Given the description of an element on the screen output the (x, y) to click on. 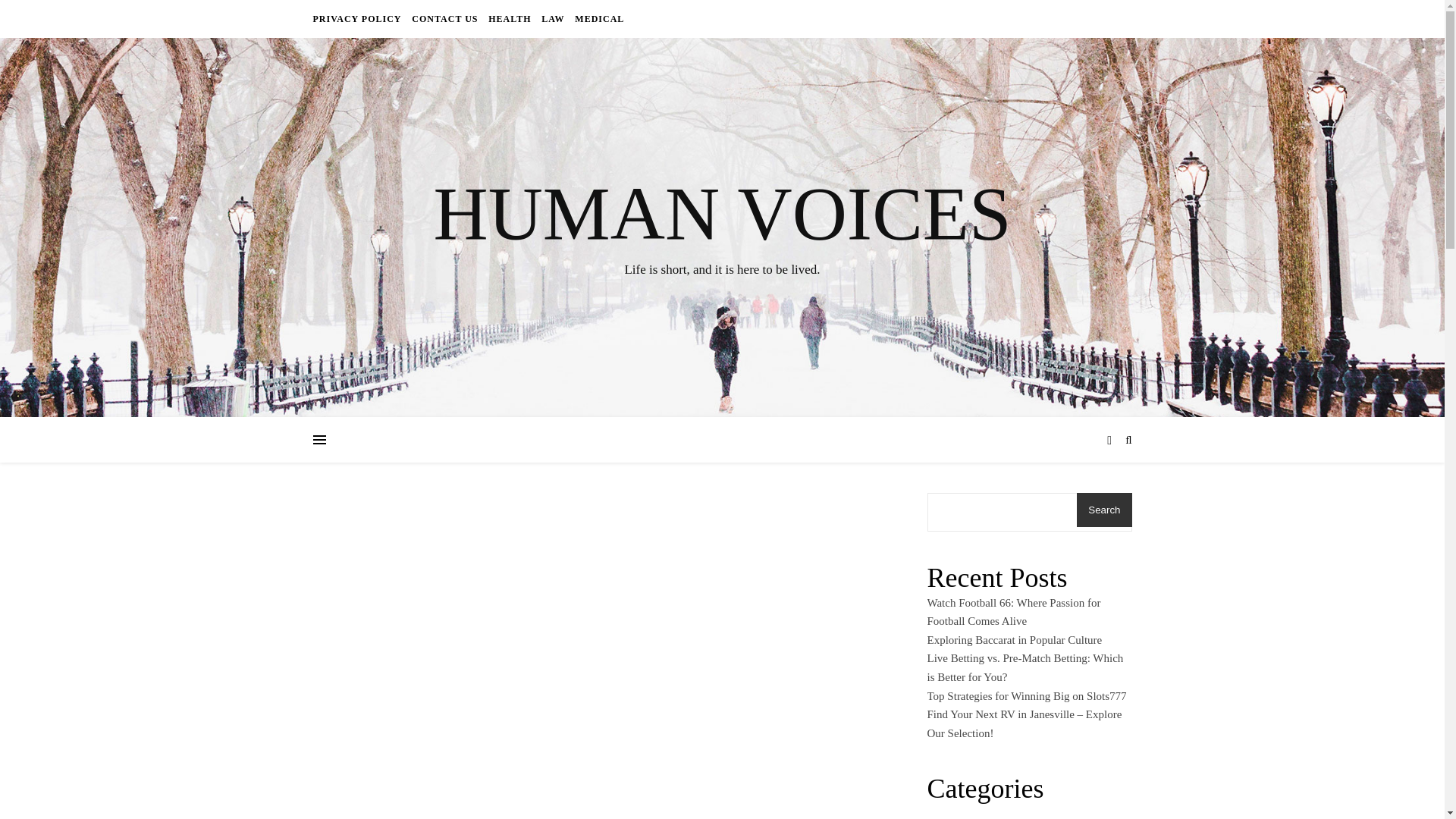
HEALTH (509, 18)
CONTACT US (444, 18)
MEDICAL (597, 18)
PRIVACY POLICY (358, 18)
Live Betting vs. Pre-Match Betting: Which is Better for You? (1024, 667)
Top Strategies for Winning Big on Slots777 (1025, 695)
Watch Football 66: Where Passion for Football Comes Alive (1013, 612)
Exploring Baccarat in Popular Culture (1014, 639)
Search (1104, 510)
